Given the description of an element on the screen output the (x, y) to click on. 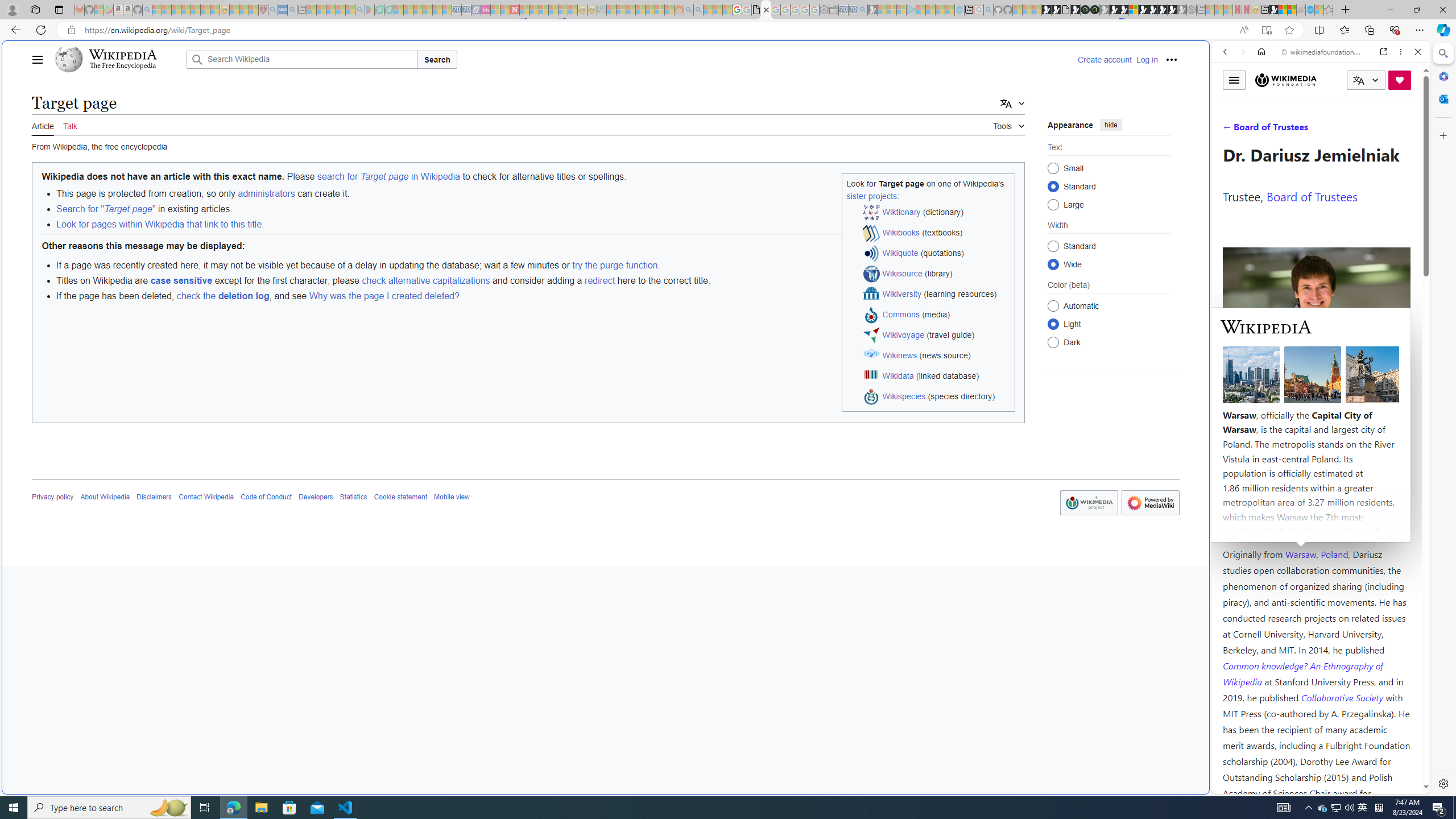
Open link in new tab (1383, 51)
Developers (315, 496)
Local - MSN - Sleeping (253, 9)
Toggle menu (1233, 80)
Code of Conduct (265, 496)
The Free Encyclopedia (121, 65)
Microsoft account | Privacy - Sleeping (901, 9)
Class: b_serphb (1404, 130)
Home | Sky Blue Bikes - Sky Blue Bikes (1118, 242)
14 Common Myths Debunked By Scientific Facts - Sleeping (533, 9)
